Given the description of an element on the screen output the (x, y) to click on. 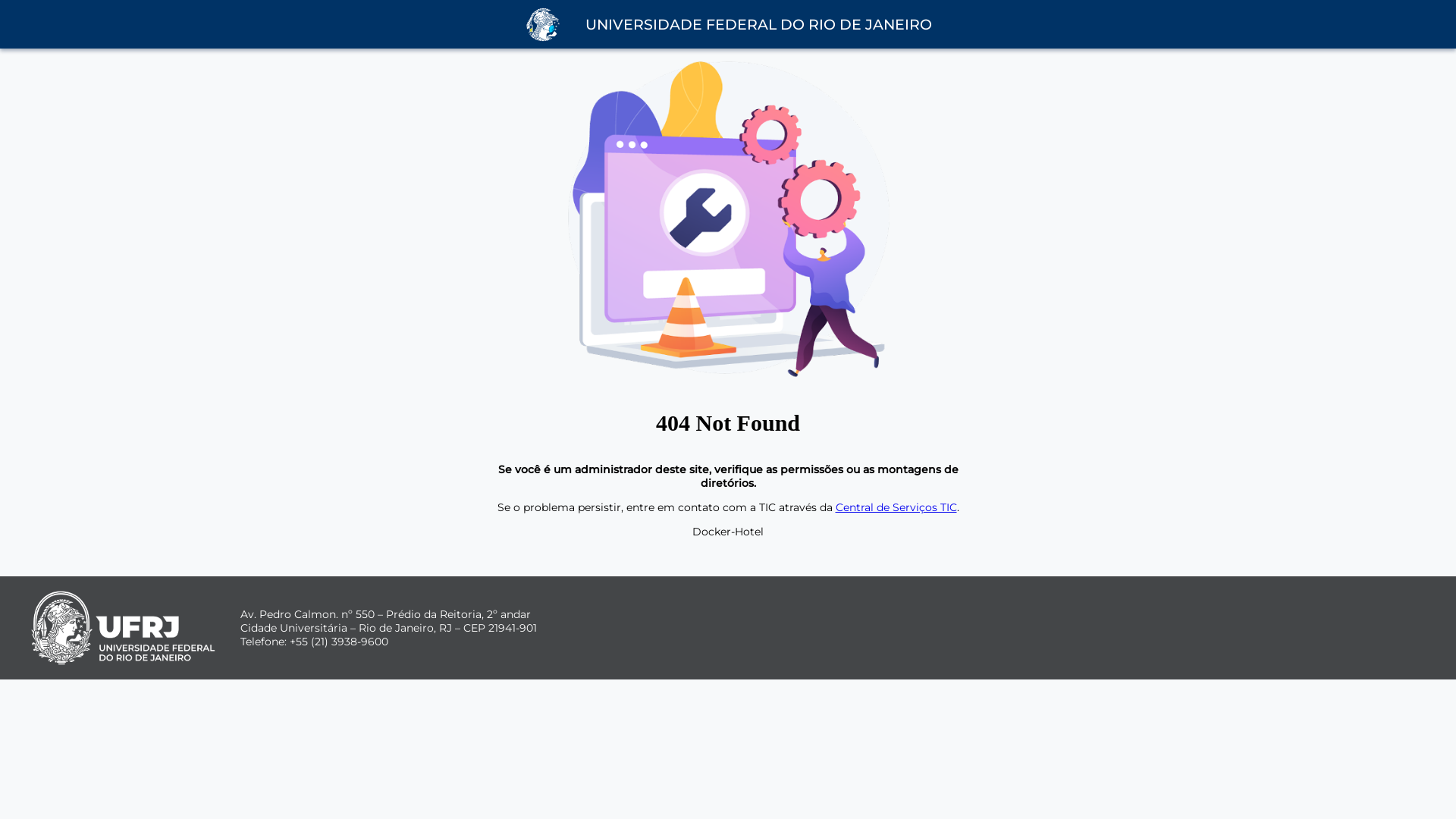
UNIVERSIDADE FEDERAL DO RIO DE JANEIRO Element type: text (758, 24)
